Given the description of an element on the screen output the (x, y) to click on. 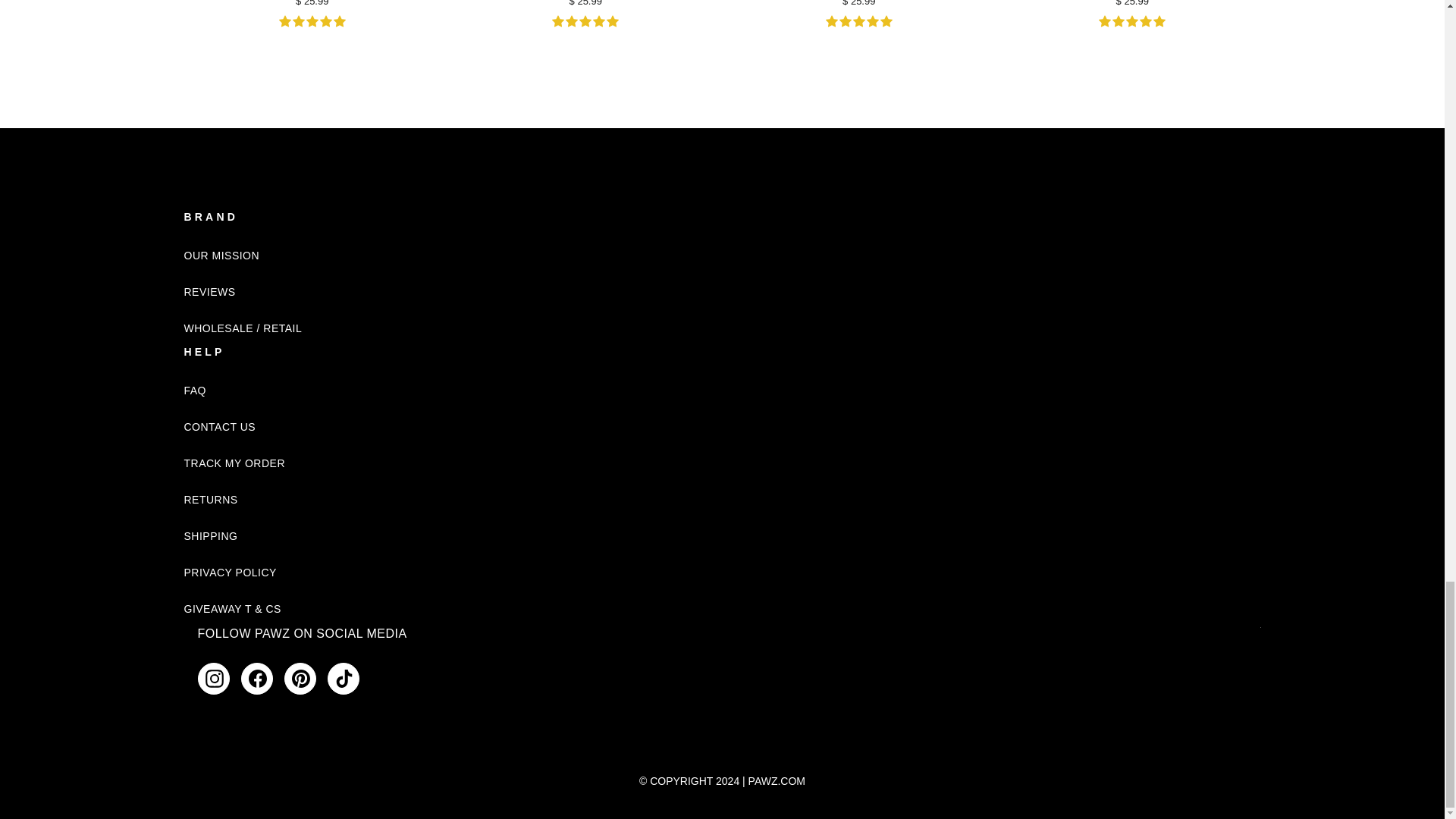
CONTACT US (219, 426)
Pawz on Pinterest (299, 678)
Pawz on TikTok (343, 678)
Pawz on Facebook (257, 678)
FAQ (194, 390)
OUR MISSION (221, 255)
REVIEWS (208, 291)
Pawz on Instagram (212, 678)
